Given the description of an element on the screen output the (x, y) to click on. 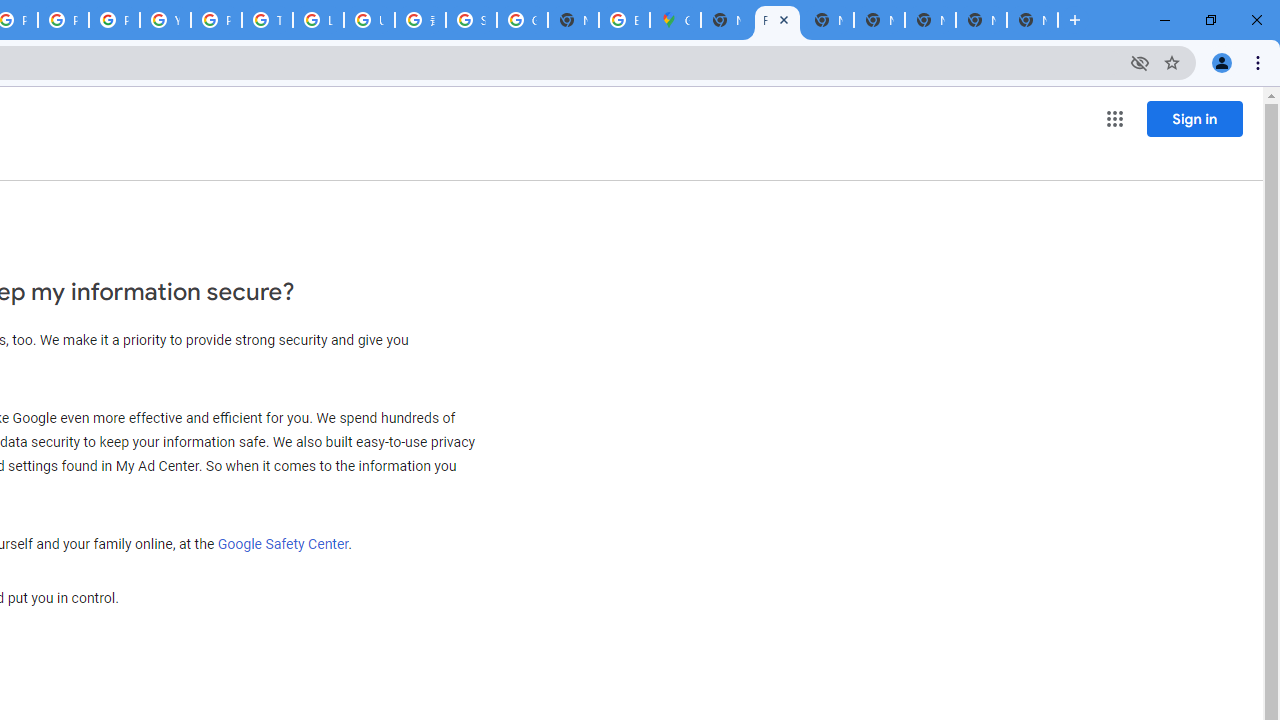
Explore new street-level details - Google Maps Help (624, 20)
New Tab (1032, 20)
